Given the description of an element on the screen output the (x, y) to click on. 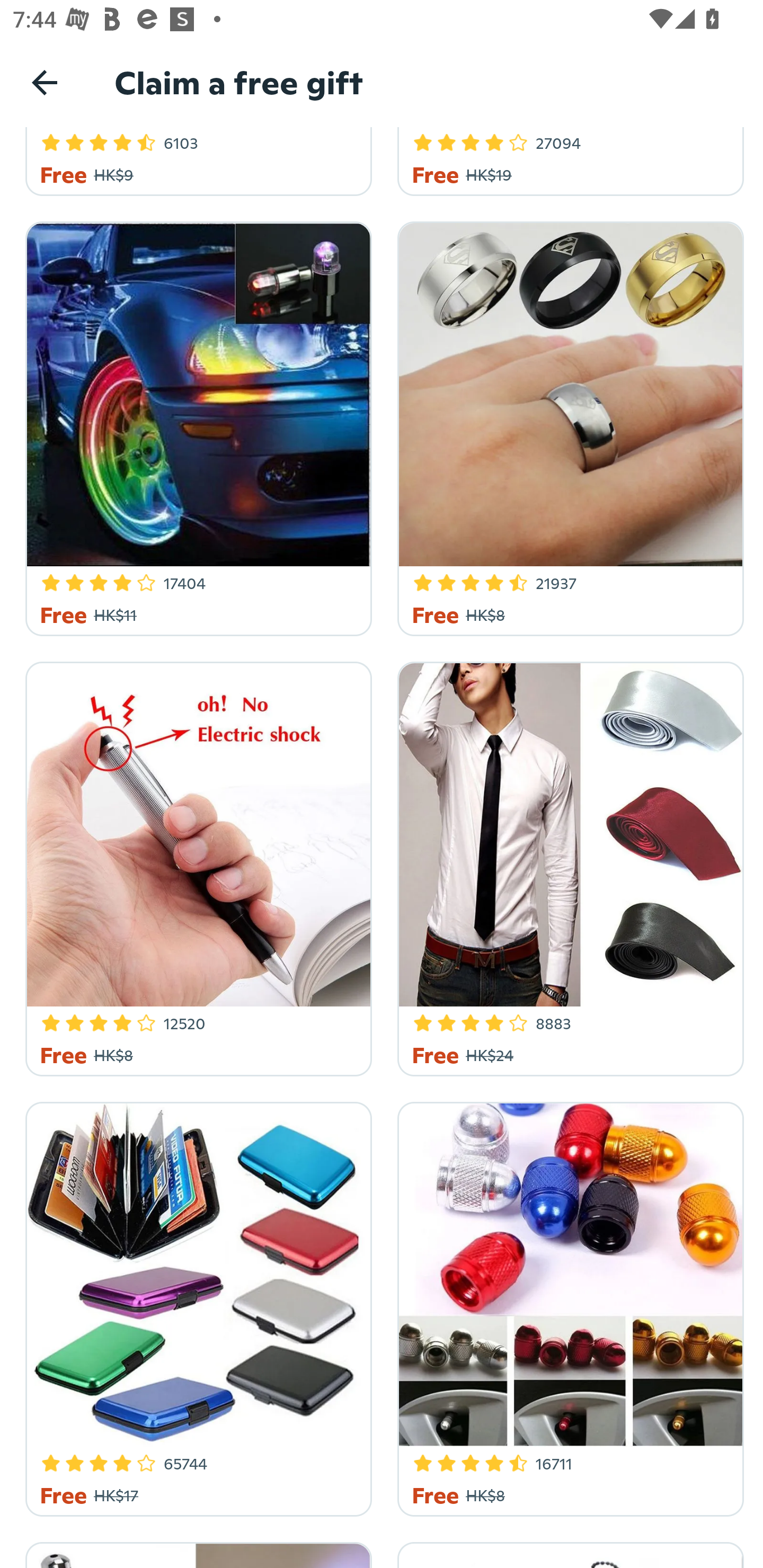
Navigate up (44, 82)
4.4 Star Rating 6103 Free HK$9 (195, 161)
4 Star Rating 27094 Free HK$19 (566, 161)
3.8 Star Rating 17404 Free HK$11 (195, 425)
4.3 Star Rating 21937 Free HK$8 (566, 425)
3.9 Star Rating 12520 Free HK$8 (195, 865)
4.2 Star Rating 8883 Free HK$24 (566, 865)
3.9 Star Rating 65744 Free HK$17 (195, 1306)
4.5 Star Rating 16711 Free HK$8 (566, 1306)
